Given the description of an element on the screen output the (x, y) to click on. 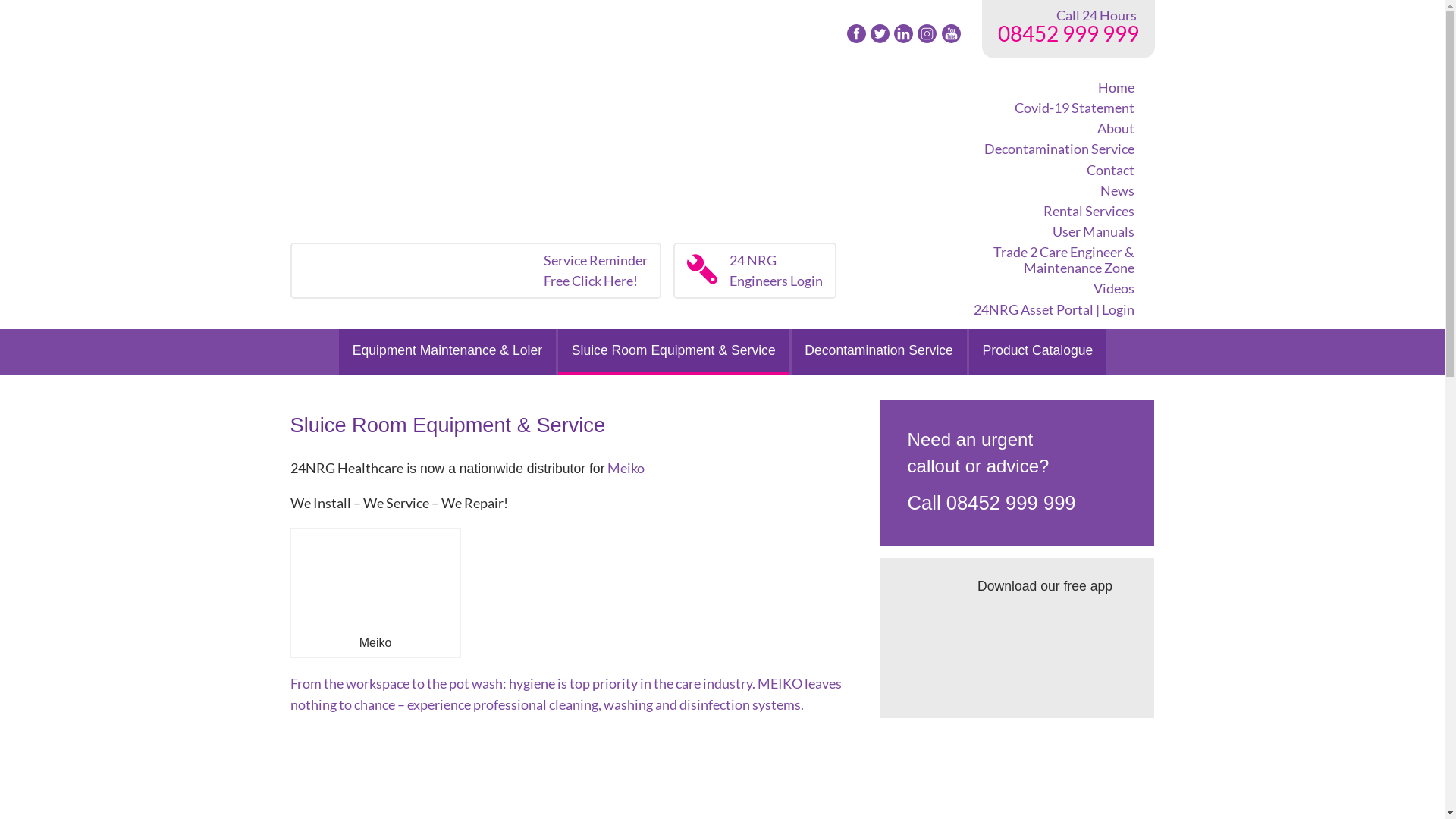
Sluice Room Equipment & Service Element type: text (673, 351)
Trade 2 Care Engineer &
Maintenance Zone Element type: text (1053, 262)
About Element type: text (1053, 130)
Videos Element type: text (1053, 290)
Contact Element type: text (1053, 172)
Equipment Maintenance & Loler Element type: text (446, 351)
Decontamination Service Element type: text (878, 351)
Follow 24 NRG Group on instagram Element type: text (926, 35)
24NRG Asset Portal | Login Element type: text (1053, 311)
Follow 24 NRG Group on Facebook Element type: text (856, 35)
Product Catalogue Element type: text (1037, 351)
24 NRG
Engineers Login Element type: text (754, 270)
Follow 24 NRG Group on Twitter Element type: text (879, 35)
Rental Services Element type: text (1053, 213)
News Element type: text (1053, 192)
Covid-19 Statement Element type: text (1053, 110)
Follow 24 NRG Group on LinkedIn Element type: text (903, 35)
Follow 24 NRG Group on youtube Element type: text (950, 35)
Service Reminder
Free Click Here! Element type: text (474, 270)
User Manuals Element type: text (1053, 233)
Meiko Element type: text (624, 468)
Home Element type: text (1053, 89)
Decontamination Service Element type: text (1053, 151)
